Given the description of an element on the screen output the (x, y) to click on. 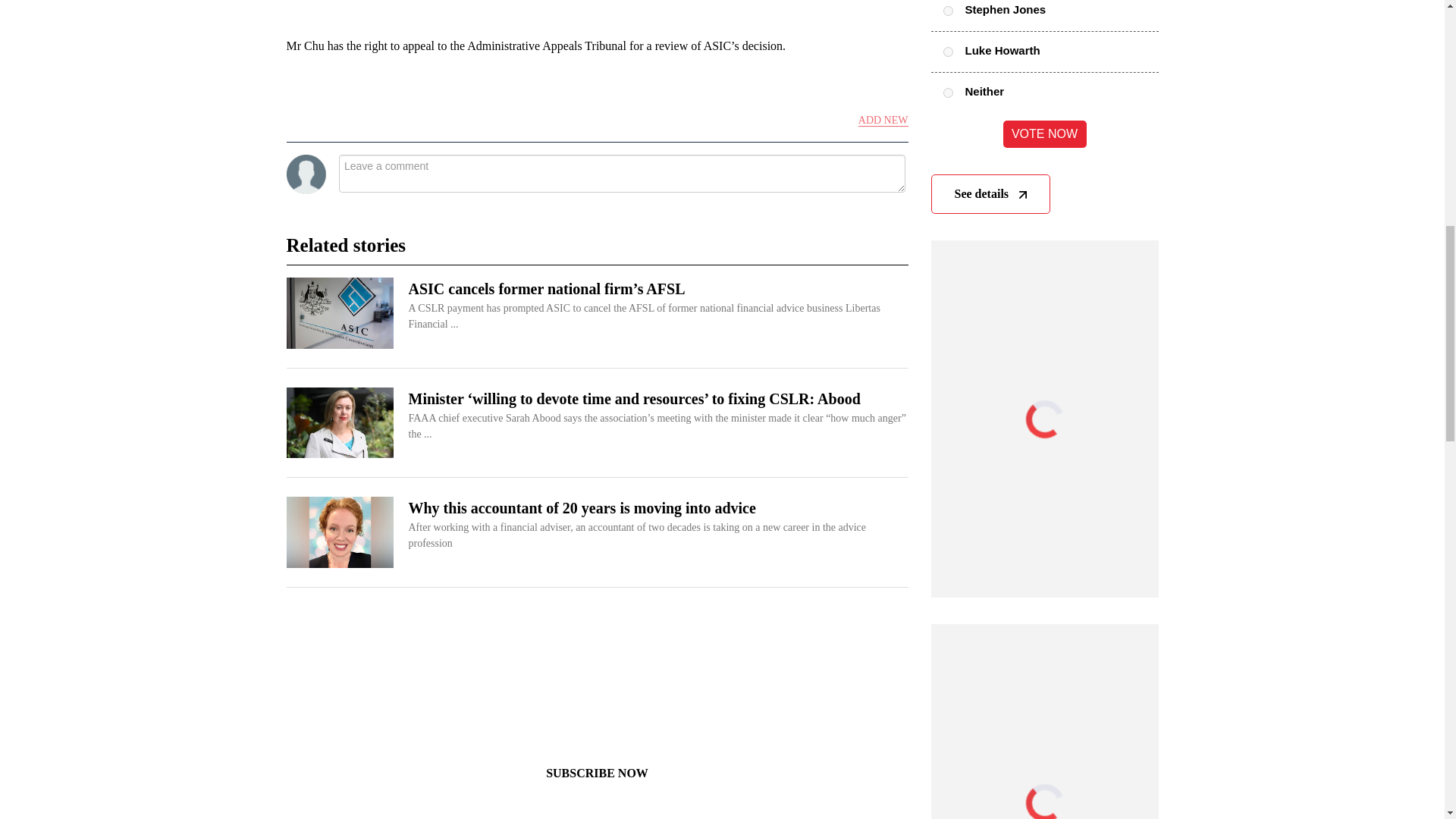
1 (948, 51)
Add New (883, 120)
2 (948, 92)
0 (948, 10)
